Given the description of an element on the screen output the (x, y) to click on. 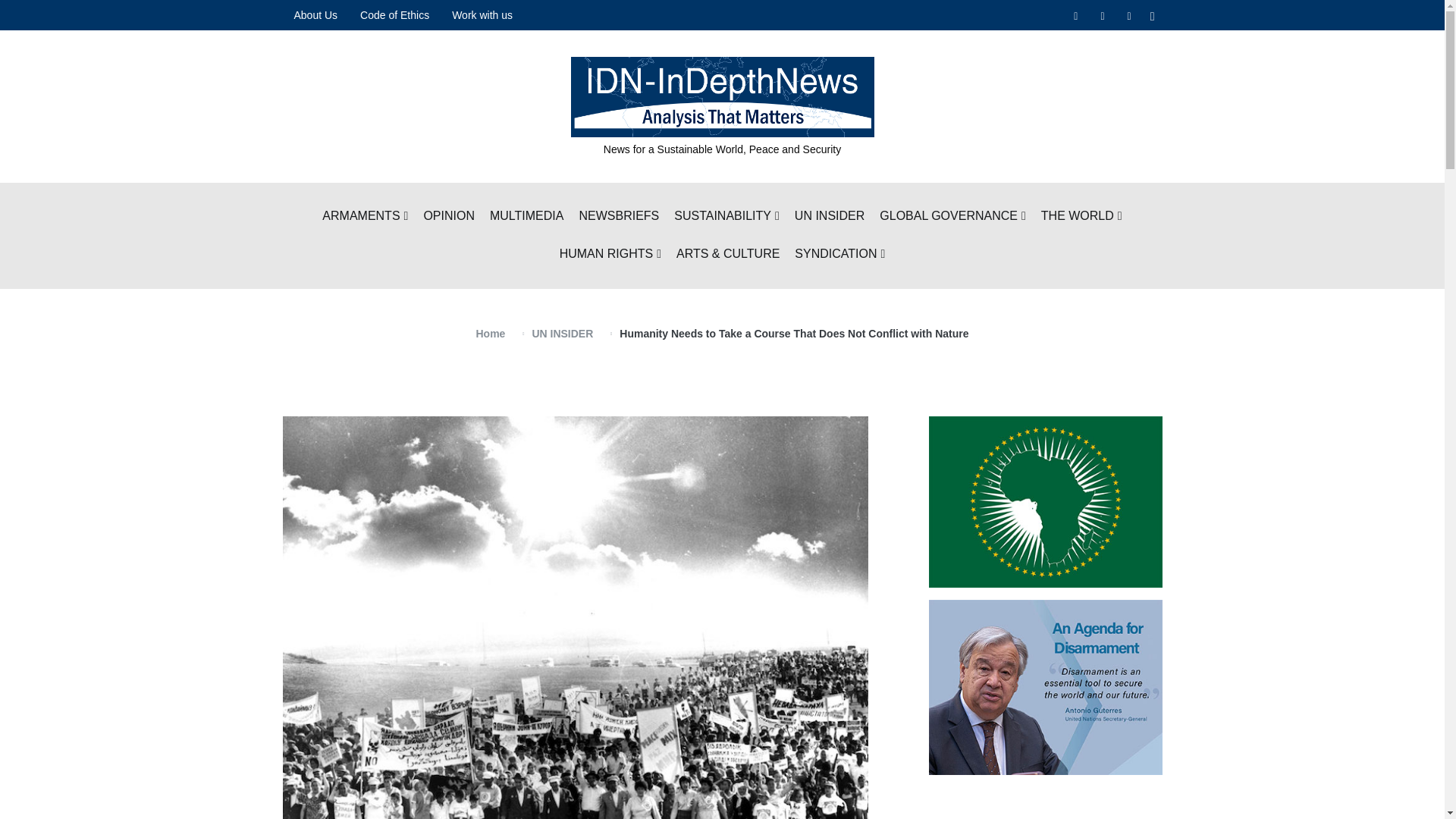
About Us (315, 14)
MULTIMEDIA (526, 216)
ARMAMENTS (364, 216)
OPINION (448, 216)
Code of Ethics (395, 14)
NEWSBRIEFS (618, 216)
UN INSIDER (829, 216)
SUSTAINABILITY (726, 216)
GLOBAL GOVERNANCE (952, 216)
Work with us (482, 14)
